Given the description of an element on the screen output the (x, y) to click on. 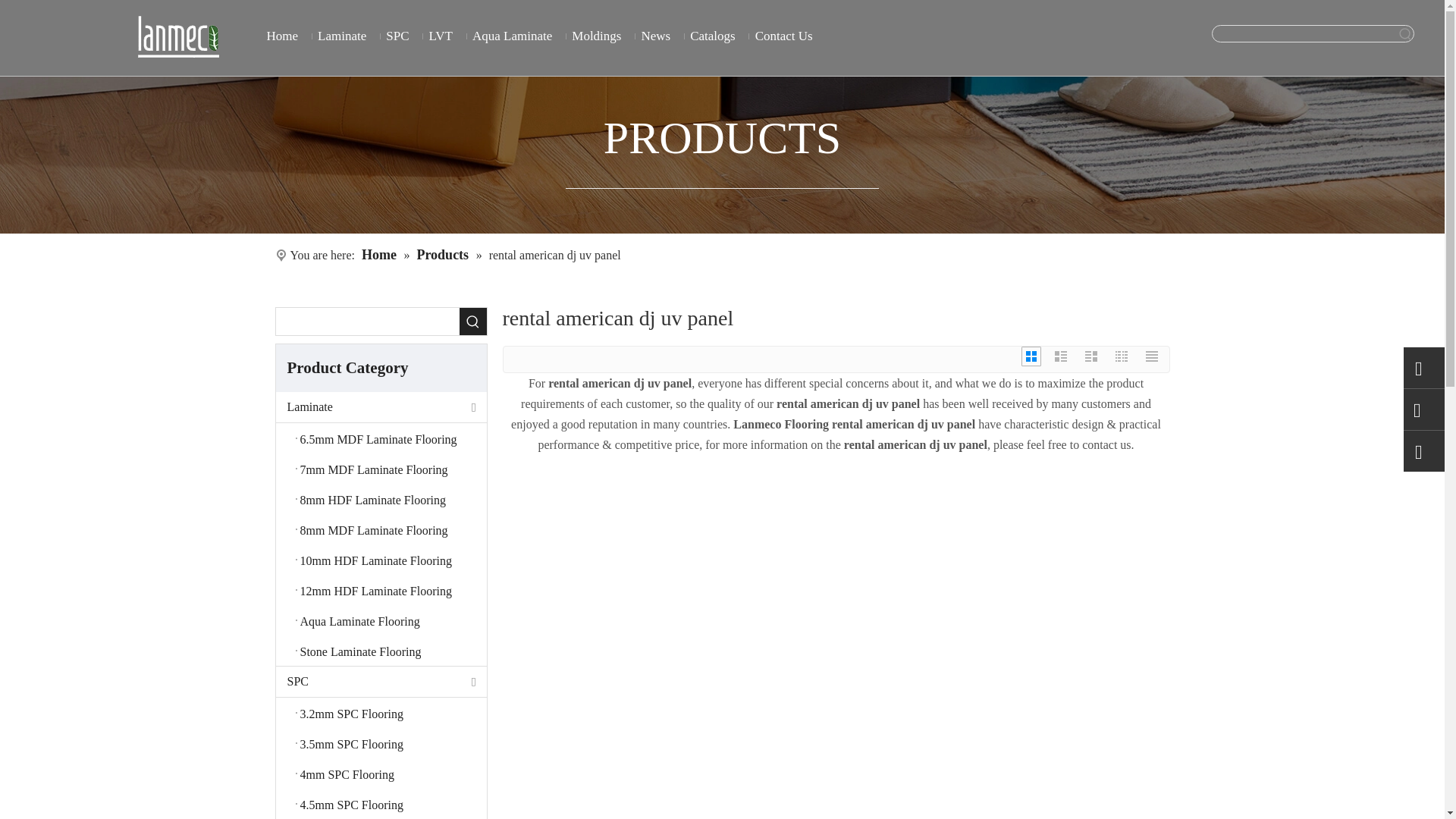
12mm HDF Laminate Flooring (381, 589)
3.5mm SPC Flooring (381, 743)
Aqua Laminate (512, 35)
Home (281, 35)
3.2mm SPC Flooring (381, 712)
Contact Us (783, 35)
Catalogs (712, 35)
10mm HDF Laminate Flooring (381, 559)
4.5mm SPC Flooring (381, 803)
8mm MDF Laminate Flooring (381, 529)
